Given the description of an element on the screen output the (x, y) to click on. 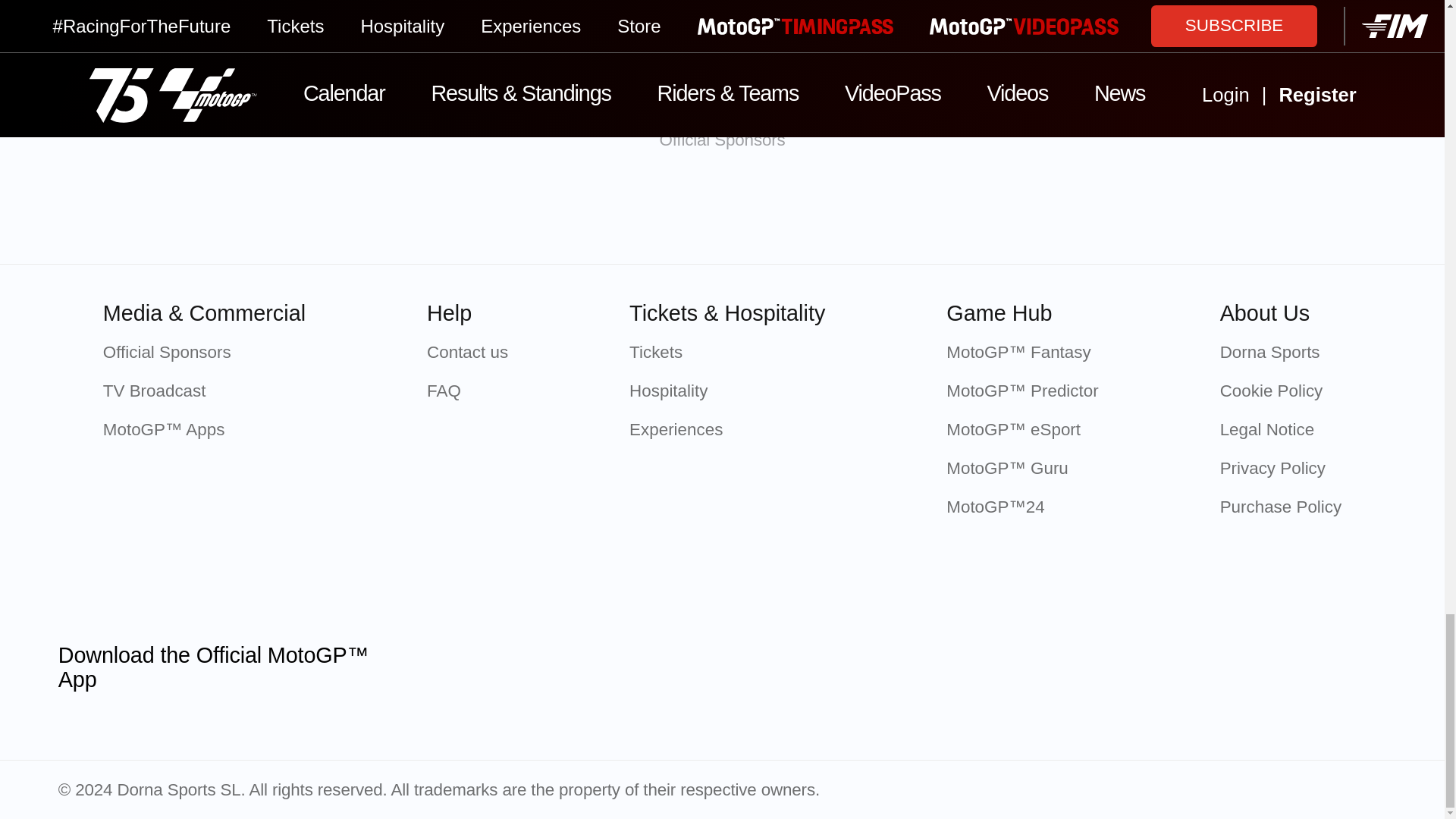
TISSOT (481, 211)
DHL (1122, 211)
BMW M (802, 211)
MICHELIN (642, 211)
ESTRELLA GALICIA (962, 211)
QATAR (321, 211)
